Given the description of an element on the screen output the (x, y) to click on. 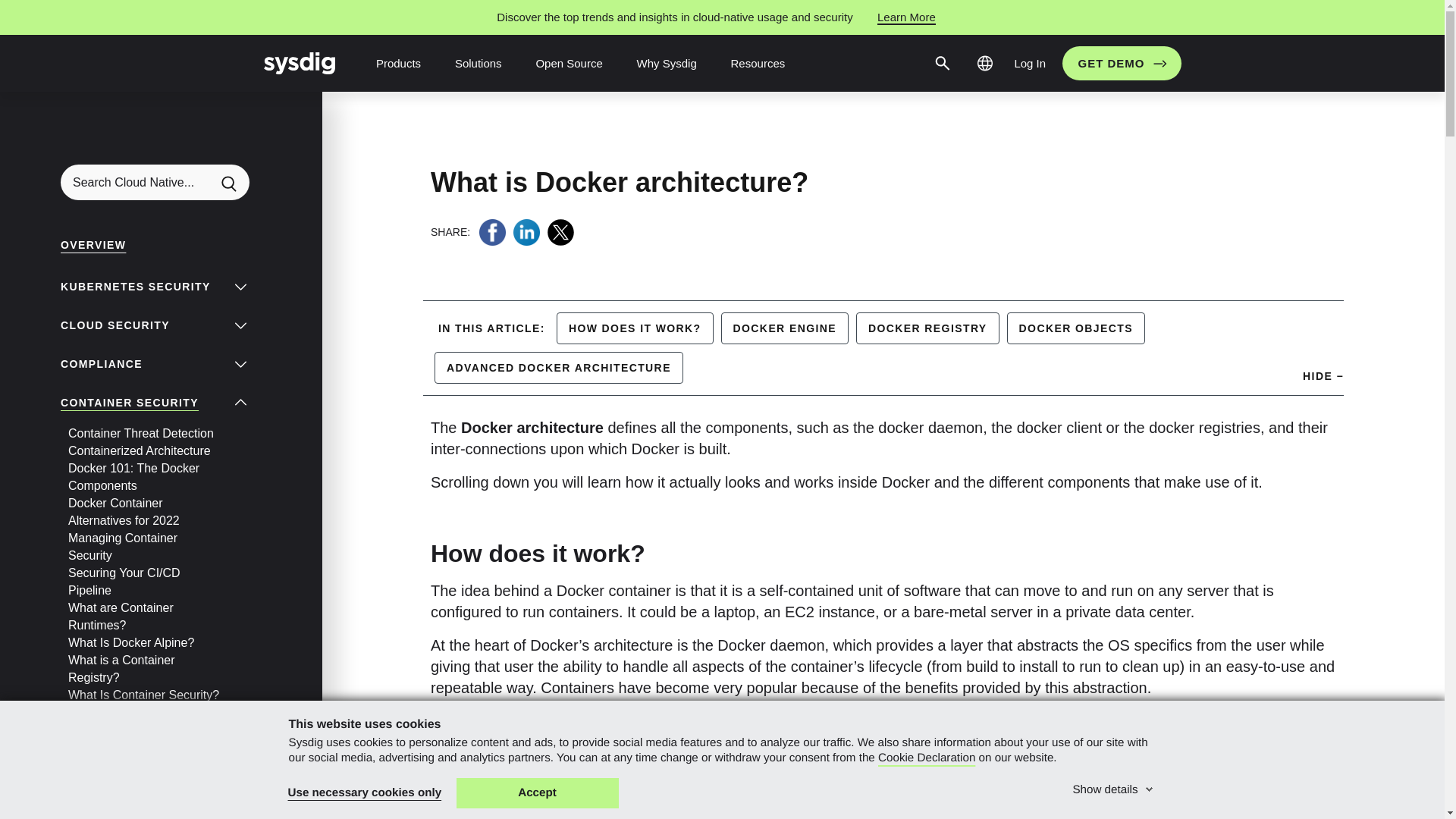
Cookie Declaration (926, 757)
Use necessary cookies only (365, 793)
Show details (1113, 787)
Accept (537, 793)
